Given the description of an element on the screen output the (x, y) to click on. 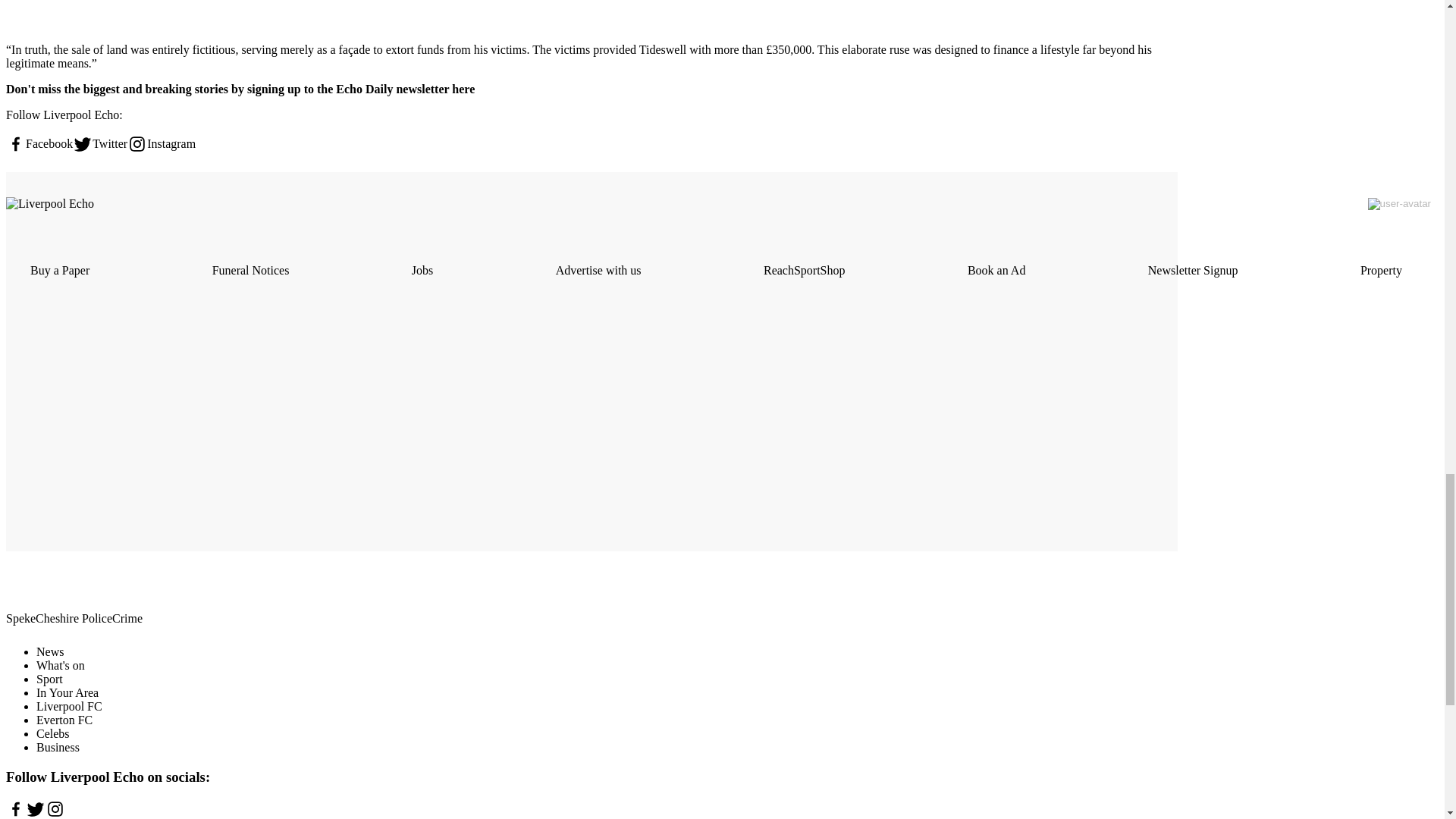
News (50, 651)
Sport (49, 678)
What's on (60, 665)
In Your Area (67, 692)
Twitter (100, 143)
Crime (127, 618)
Instagram (161, 143)
Facebook (38, 143)
Speke (19, 618)
Cheshire Police (73, 618)
